Given the description of an element on the screen output the (x, y) to click on. 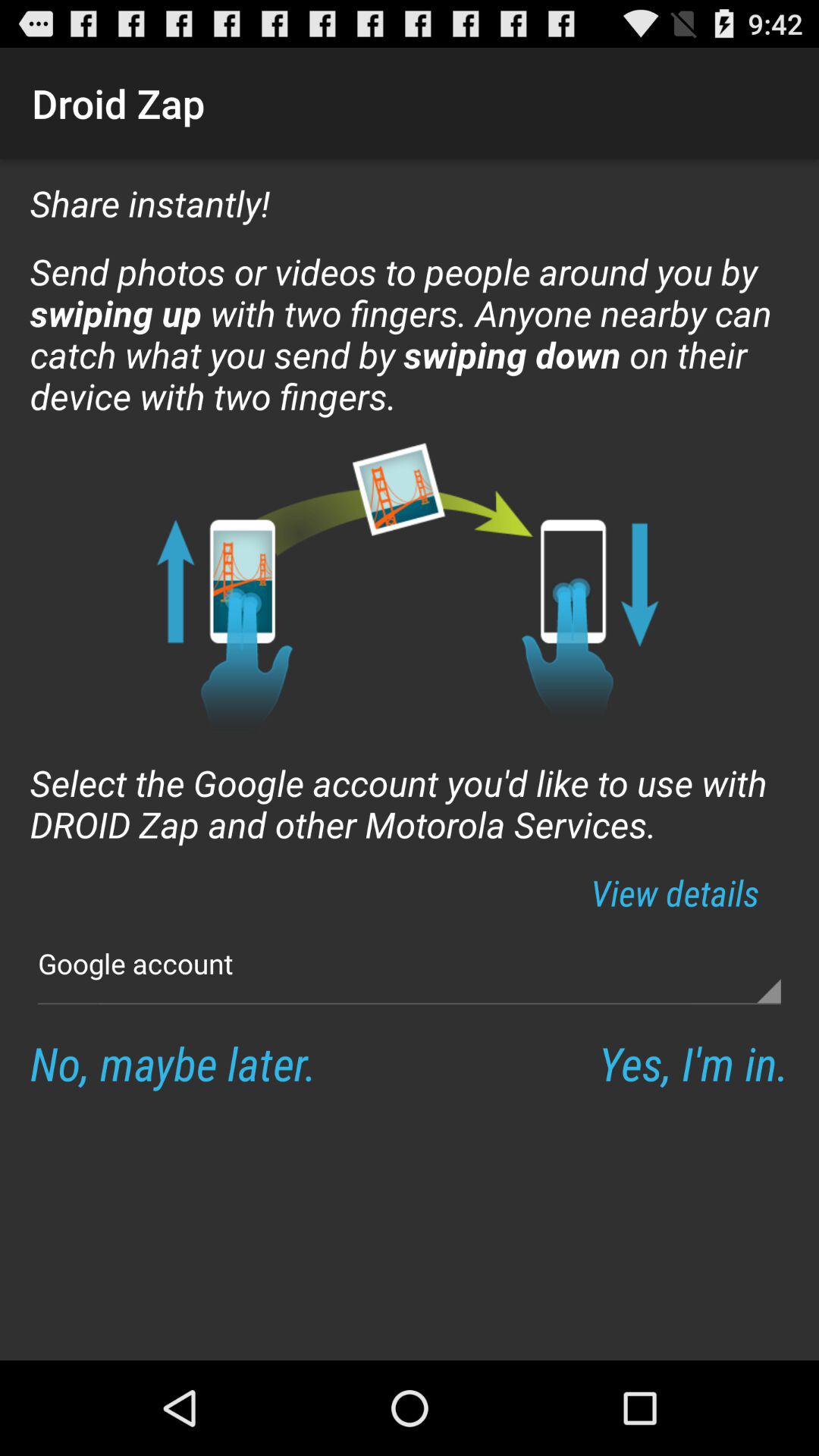
click the no, maybe later. app (173, 1062)
